Given the description of an element on the screen output the (x, y) to click on. 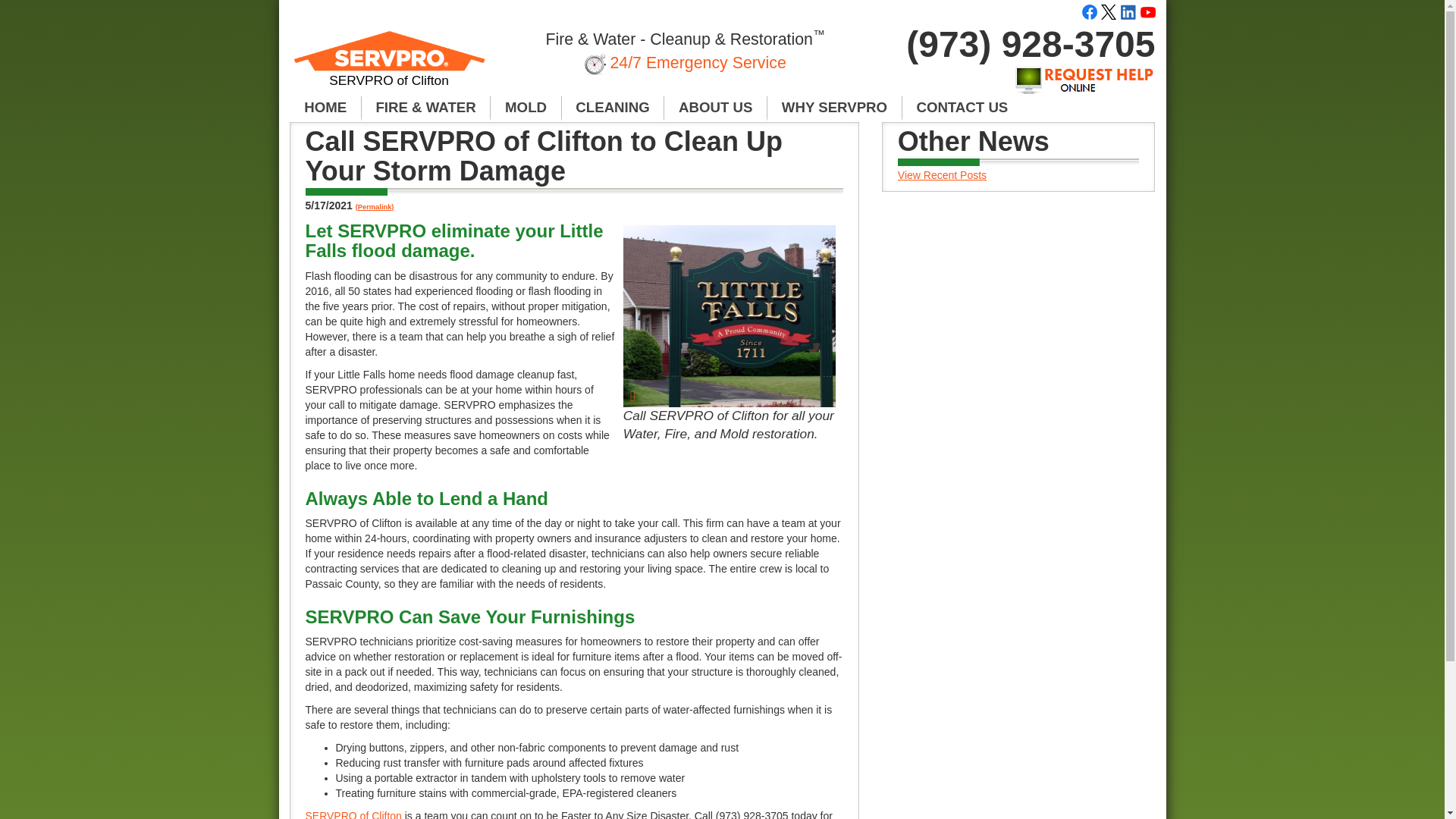
ABOUT US (715, 108)
MOLD (525, 108)
SERVPRO of Clifton (389, 65)
HOME (325, 108)
CLEANING (613, 108)
